Given the description of an element on the screen output the (x, y) to click on. 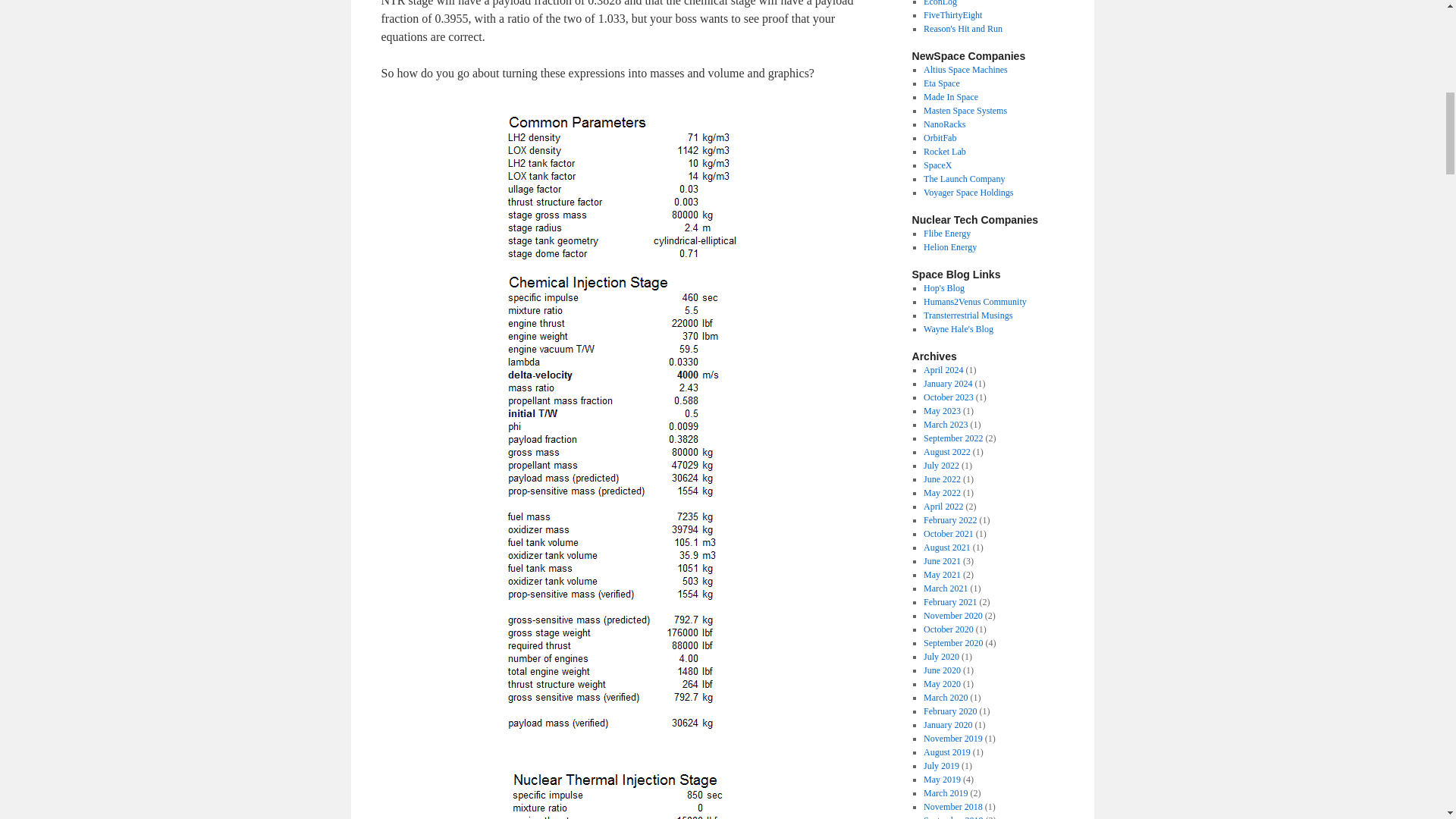
Arnold Kling, Bryan Caplan, and David Henderson on economics (939, 3)
